Given the description of an element on the screen output the (x, y) to click on. 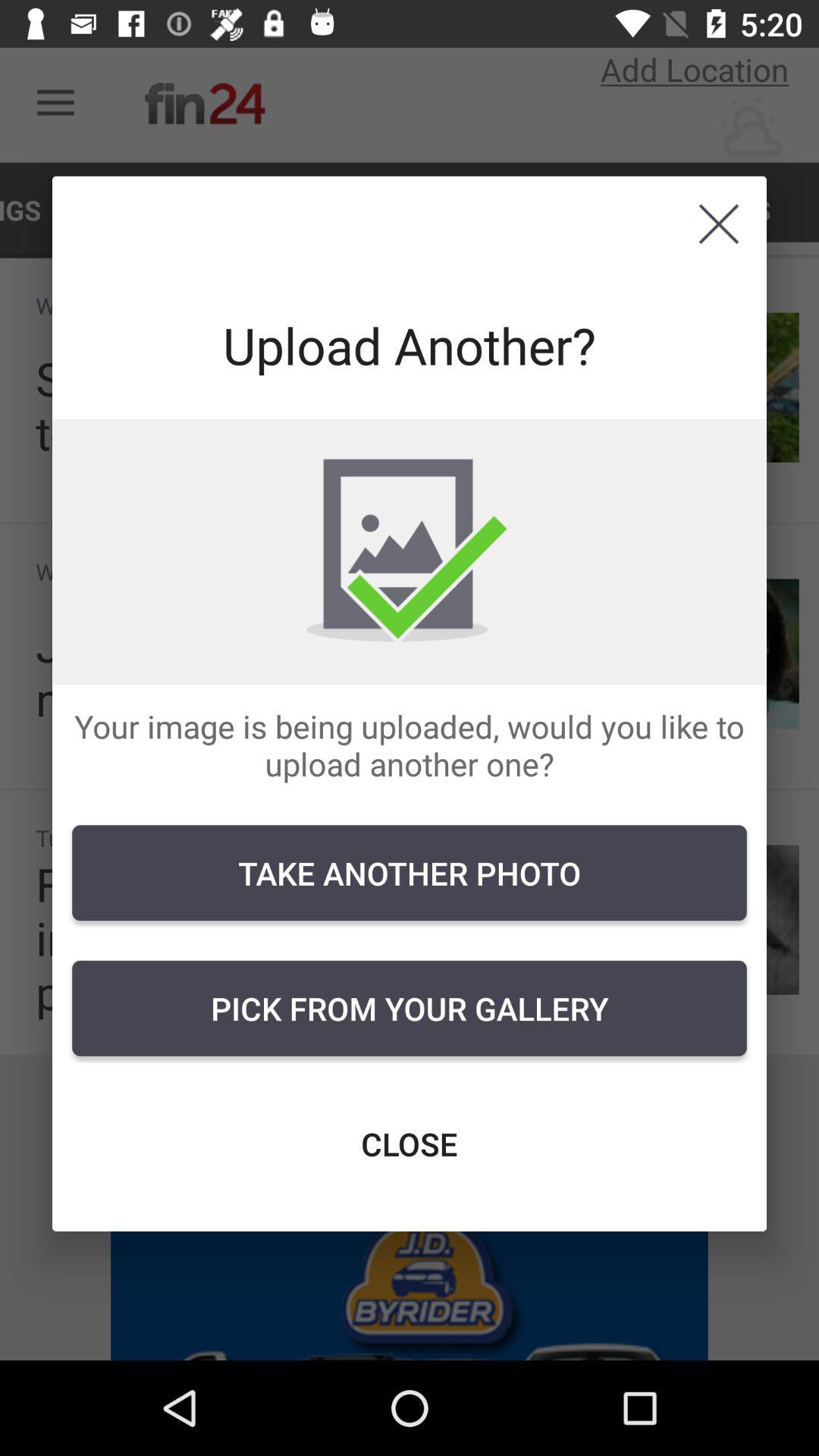
jump until the pick from your icon (409, 1008)
